Given the description of an element on the screen output the (x, y) to click on. 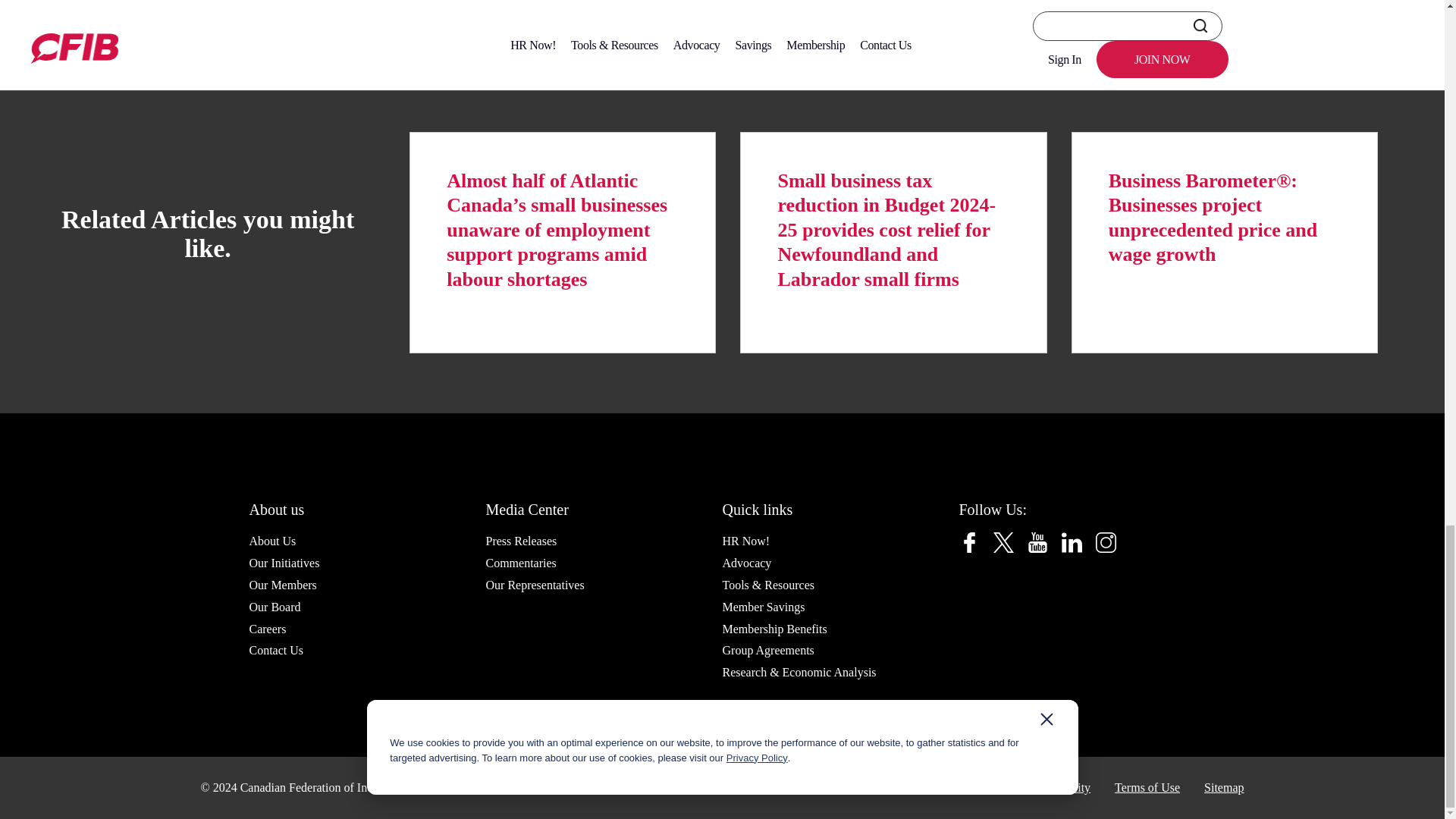
Newfoundland and Labrador (333, 5)
News Release (223, 5)
